Given the description of an element on the screen output the (x, y) to click on. 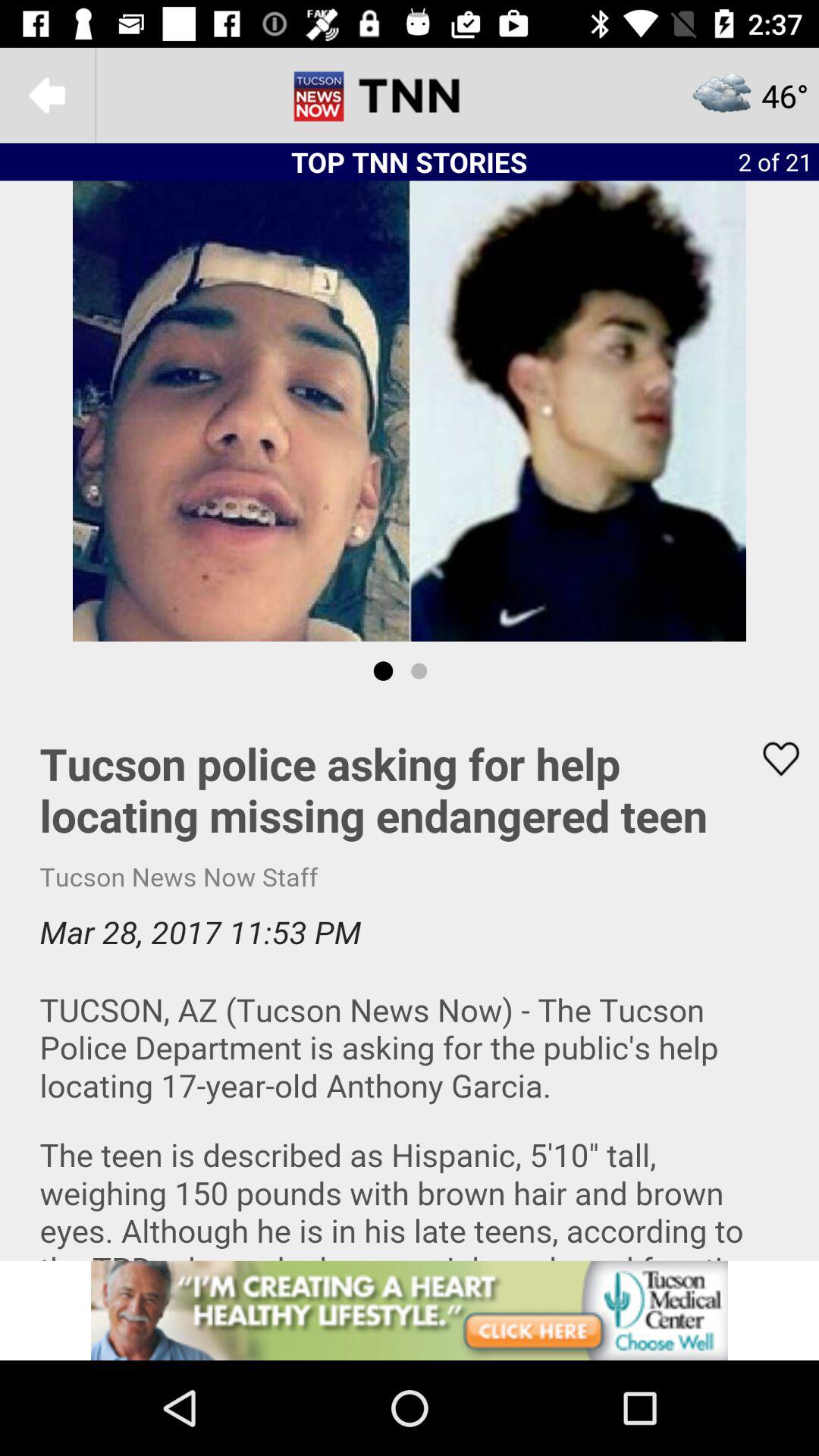
open advertisement (409, 1310)
